Given the description of an element on the screen output the (x, y) to click on. 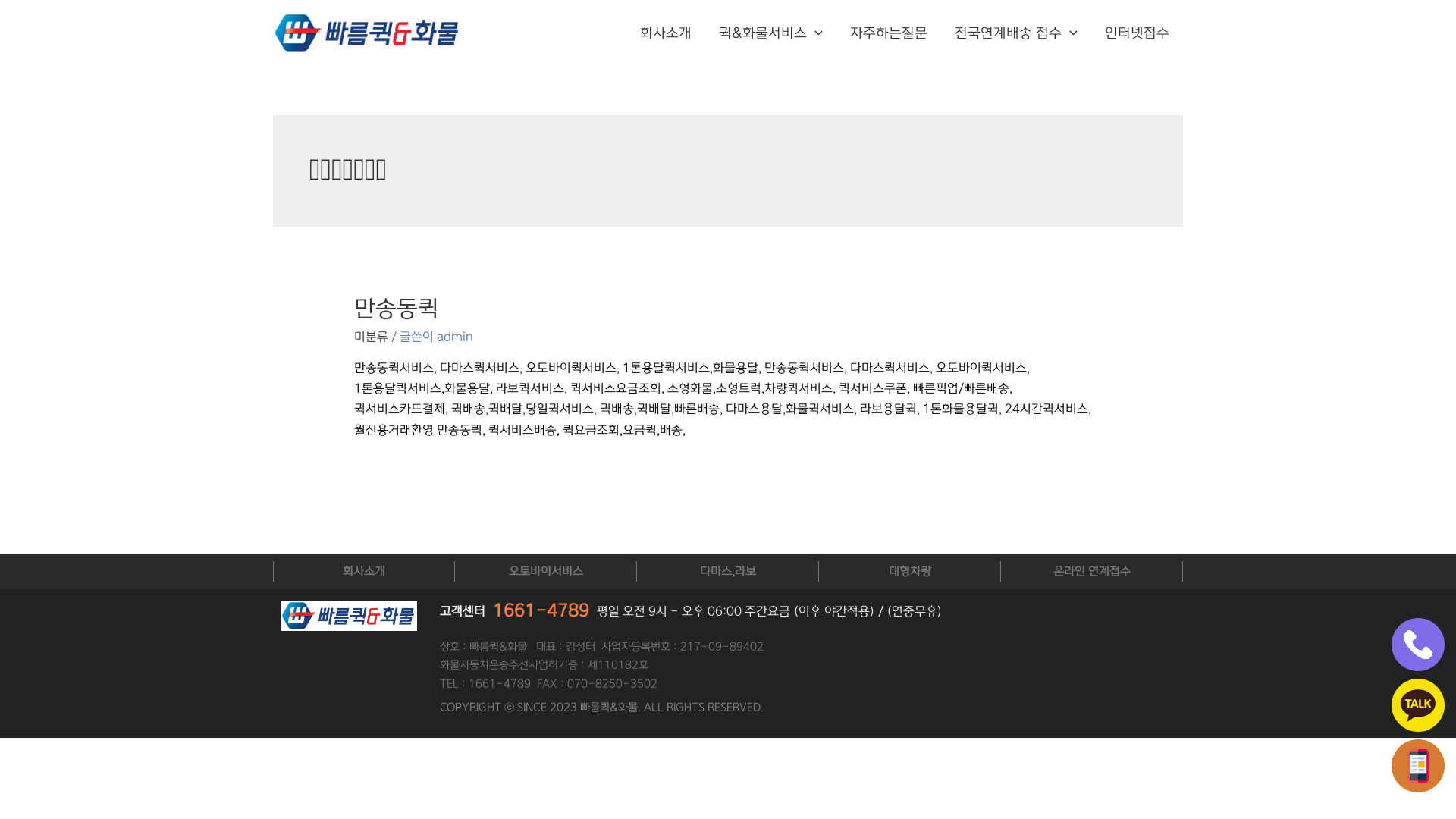
admin Element type: text (454, 336)
1661-4789 Element type: text (540, 610)
